Given the description of an element on the screen output the (x, y) to click on. 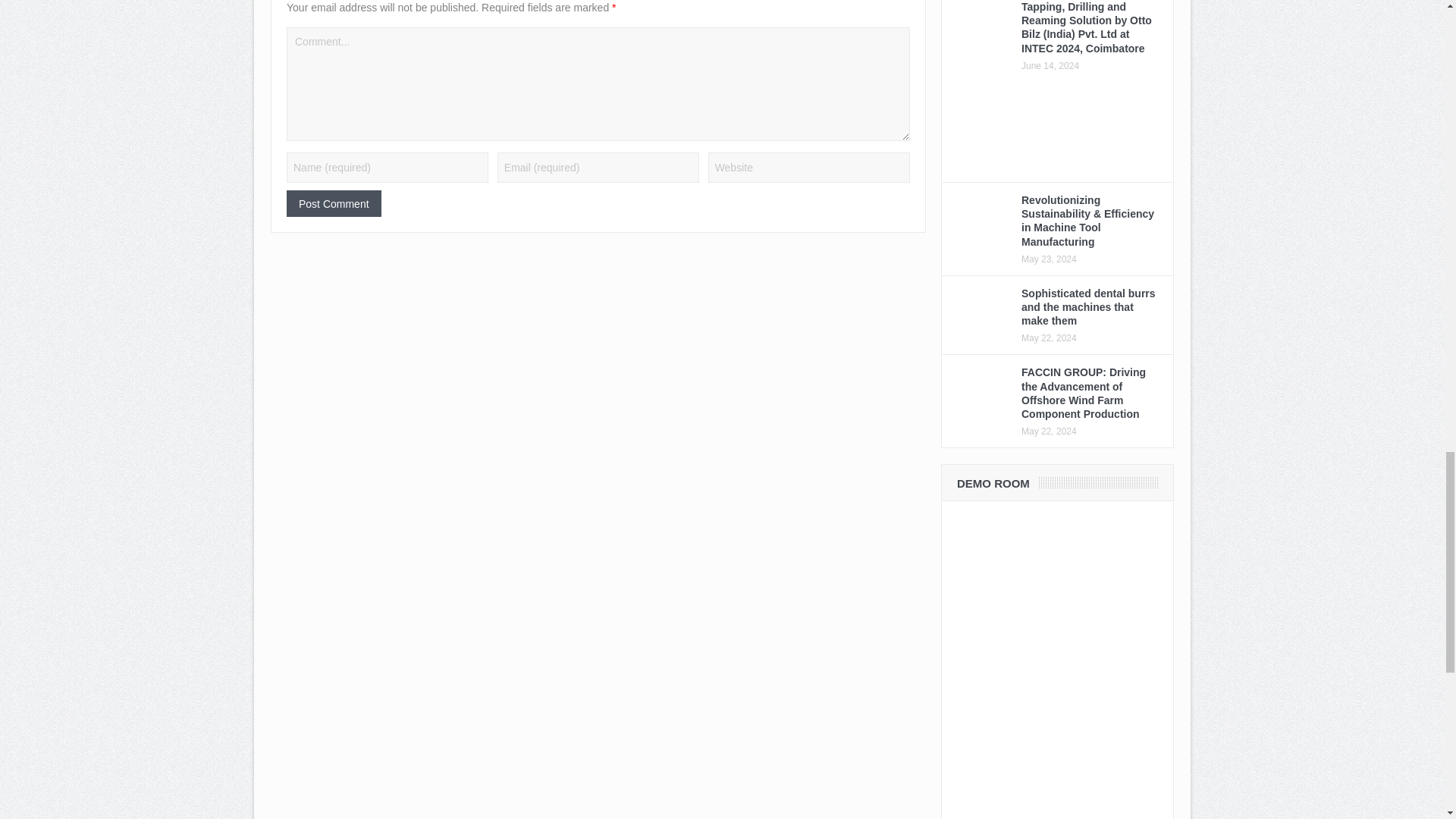
Post Comment (333, 203)
